Given the description of an element on the screen output the (x, y) to click on. 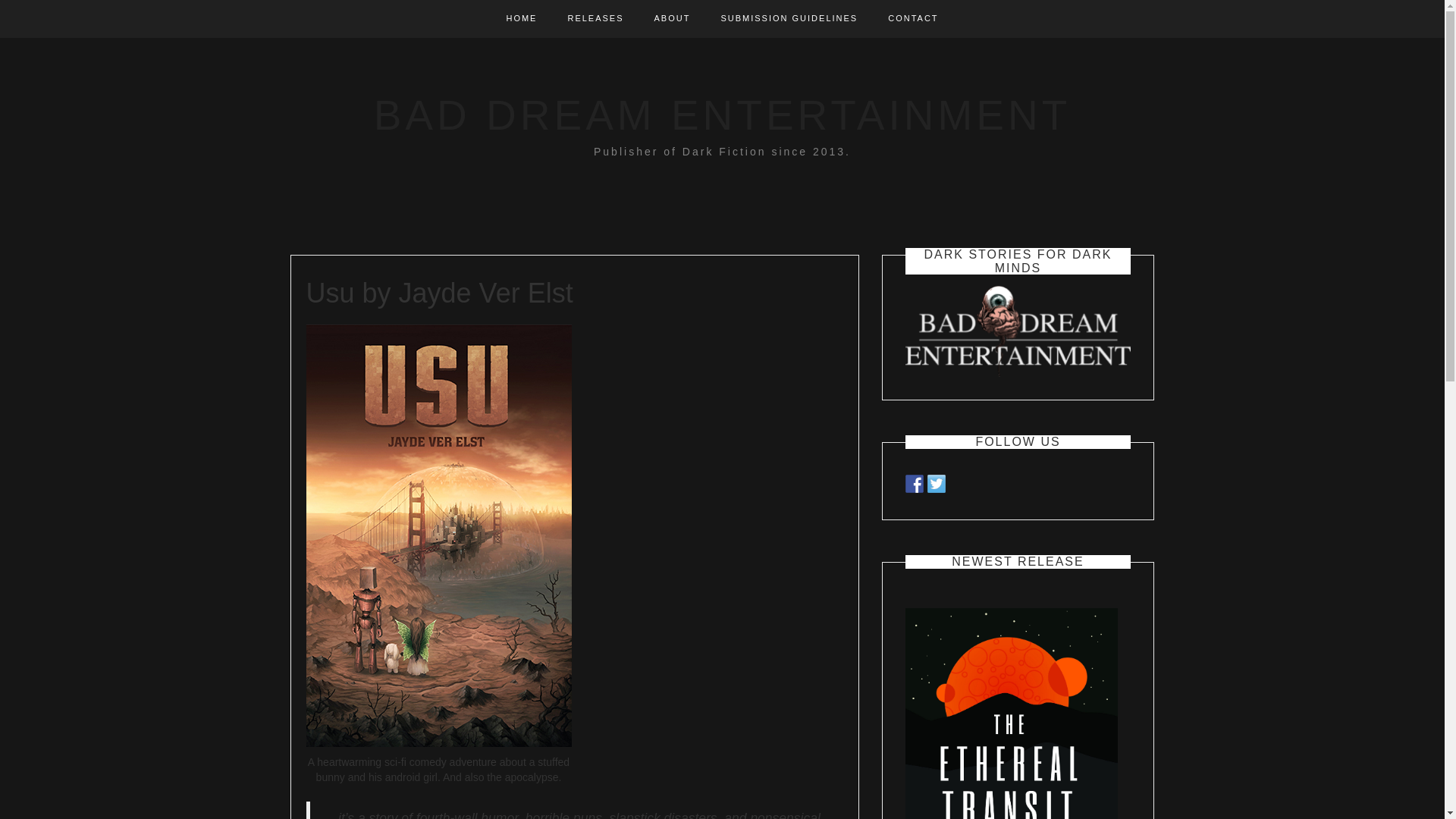
RELEASES (595, 18)
Follow BDE on Facebook (914, 484)
SUBMISSION GUIDELINES (788, 18)
Follow BDE on Twitter (935, 484)
ABOUT (671, 18)
BAD DREAM ENTERTAINMENT (722, 114)
CONTACT (912, 18)
